Given the description of an element on the screen output the (x, y) to click on. 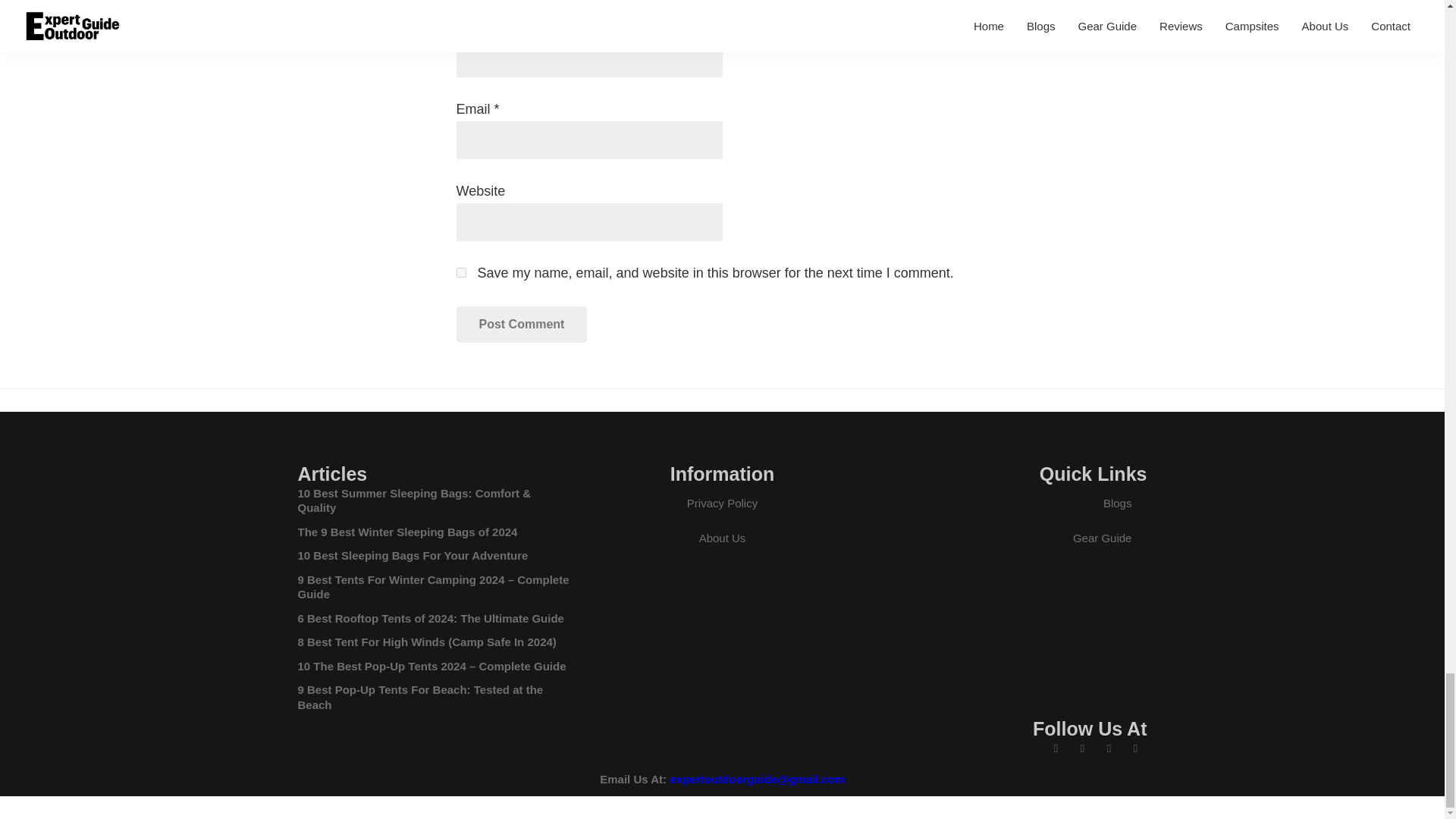
The 9 Best Winter Sleeping Bags of 2024 (406, 531)
10 Best Sleeping Bags For Your Adventure (412, 554)
Post Comment (522, 324)
6 Best Rooftop Tents of 2024: The Ultimate Guide (430, 617)
yes (461, 272)
About Us (722, 538)
9 Best Pop-Up Tents For Beach: Tested at the Beach (420, 697)
Privacy Policy (722, 503)
Post Comment (522, 324)
